Given the description of an element on the screen output the (x, y) to click on. 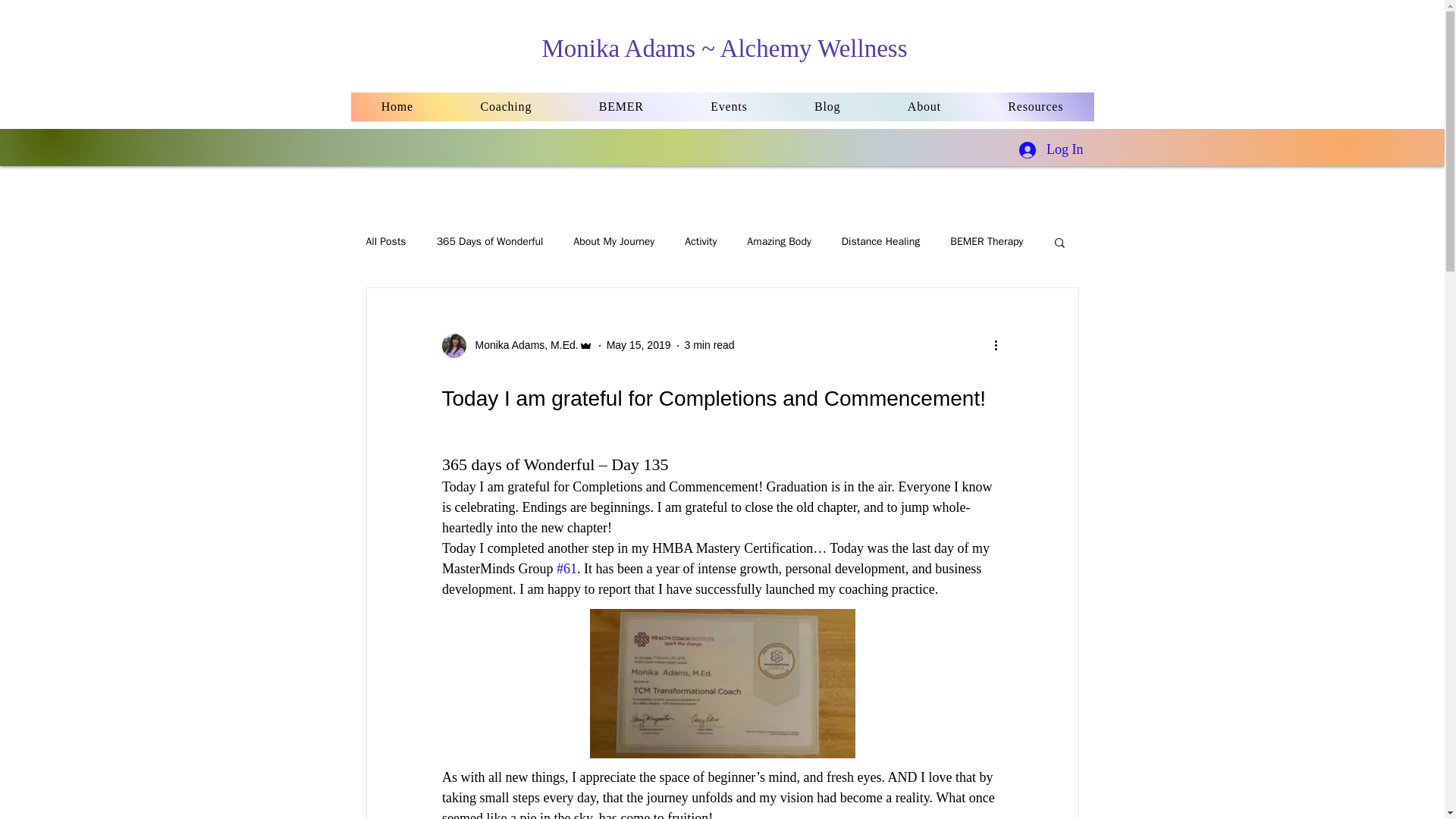
365 Days of Wonderful (489, 241)
Blog (827, 106)
Resources (1034, 106)
Log In (1051, 150)
Home (397, 106)
Alchemy Wellness (813, 48)
BEMER Therapy (986, 241)
Monika Adams, M.Ed. (521, 344)
Distance Healing (880, 241)
May 15, 2019 (639, 345)
